Given the description of an element on the screen output the (x, y) to click on. 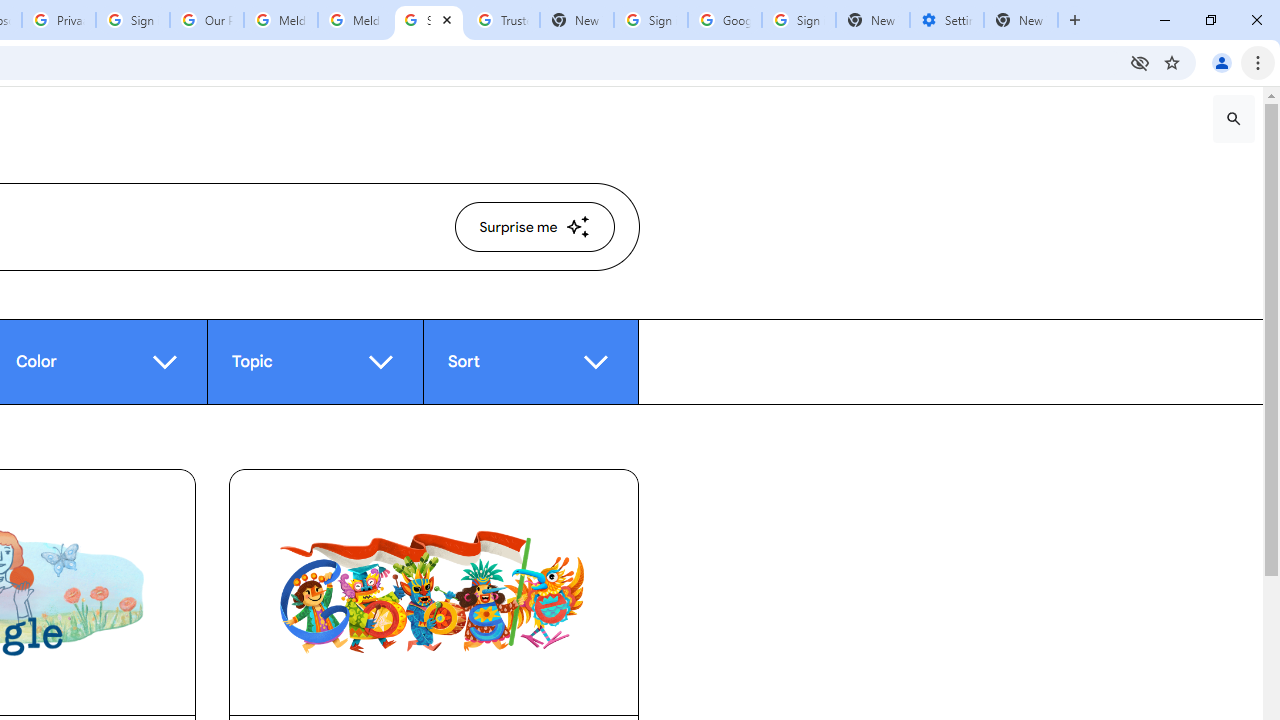
Sign in - Google Accounts (651, 20)
Settings - Addresses and more (947, 20)
Trusted Information and Content - Google Safety Center (502, 20)
Sign in - Google Accounts (133, 20)
Sign in - Google Accounts (798, 20)
Surprise me (534, 226)
Search our Doodle Library Collection - Google Doodles (428, 20)
